Given the description of an element on the screen output the (x, y) to click on. 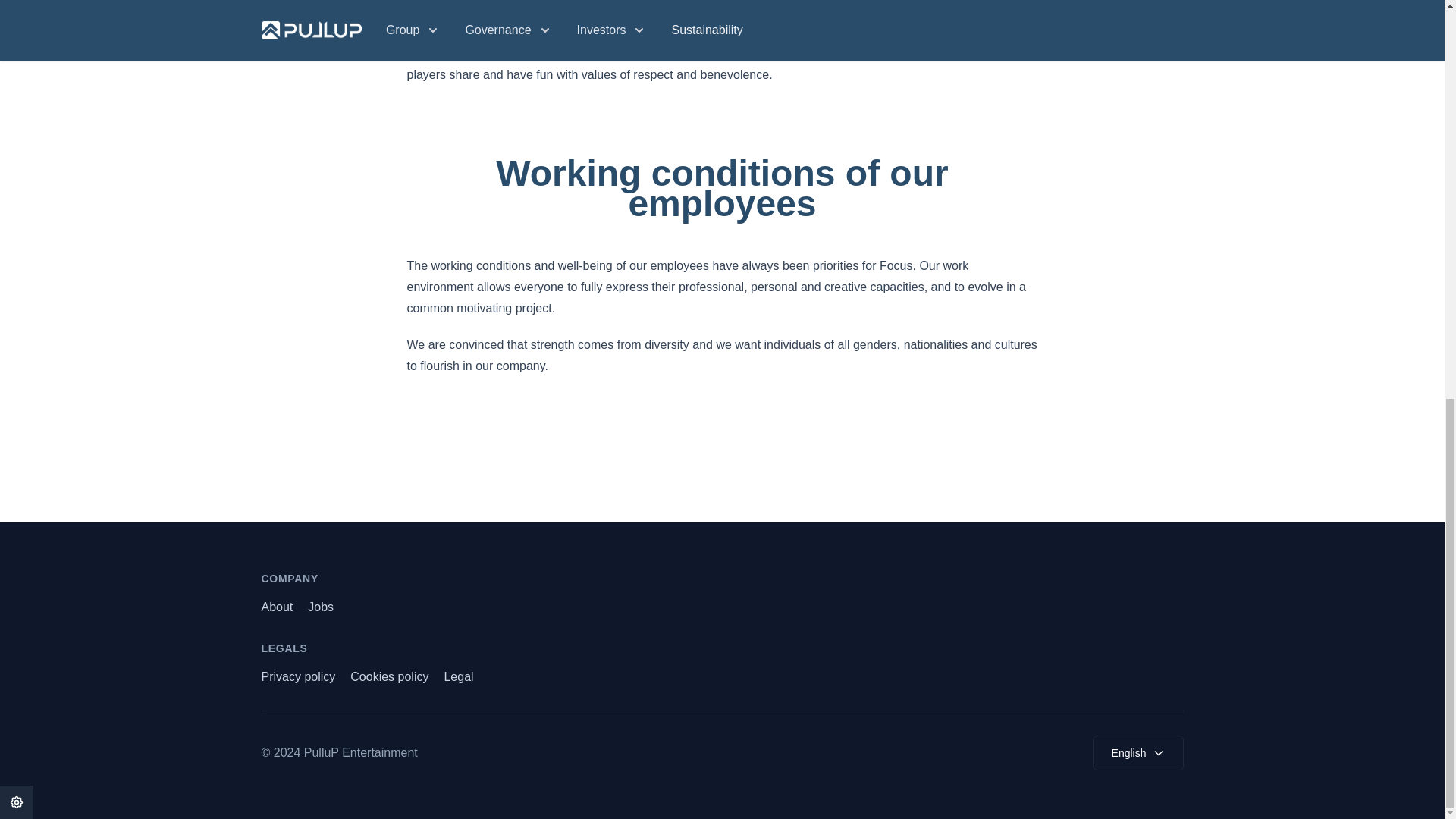
open cookie settings (16, 26)
